Given the description of an element on the screen output the (x, y) to click on. 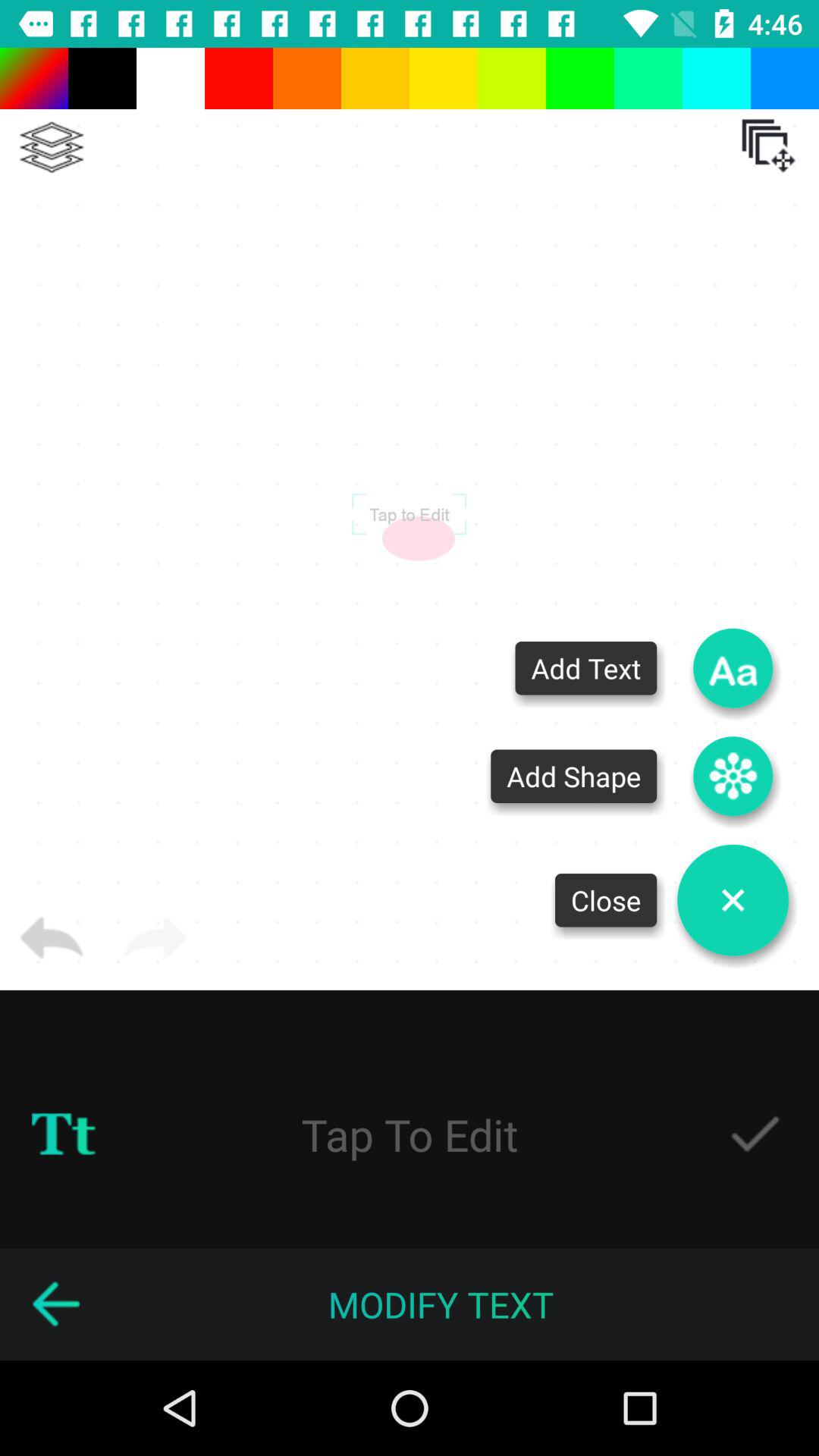
add shape (733, 776)
